Given the description of an element on the screen output the (x, y) to click on. 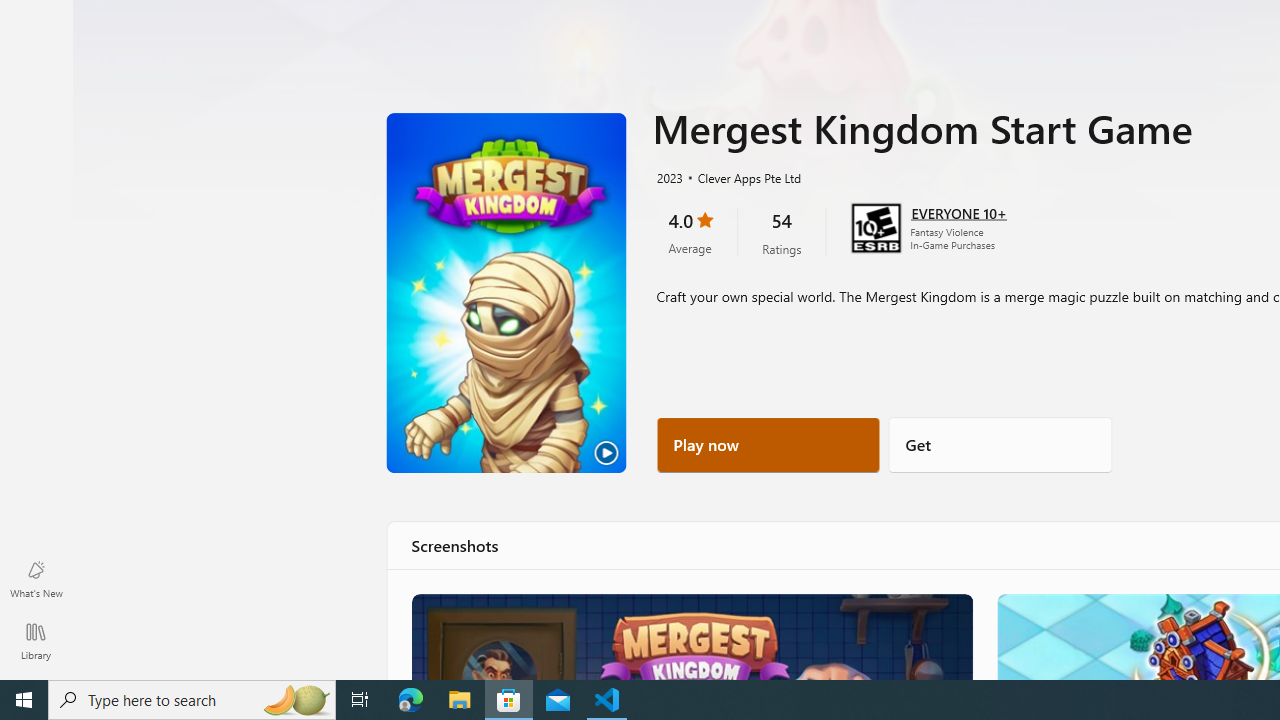
Merge the way you want! (690, 636)
Get (1000, 444)
Age rating: EVERYONE 10+. Click for more information. (958, 211)
Class: Image (690, 636)
Clever Apps Pte Ltd (741, 177)
What's New (35, 578)
Play Trailer (505, 293)
4.0 stars. Click to skip to ratings and reviews (689, 232)
Library (35, 640)
Play now (767, 444)
2023 (667, 177)
